Given the description of an element on the screen output the (x, y) to click on. 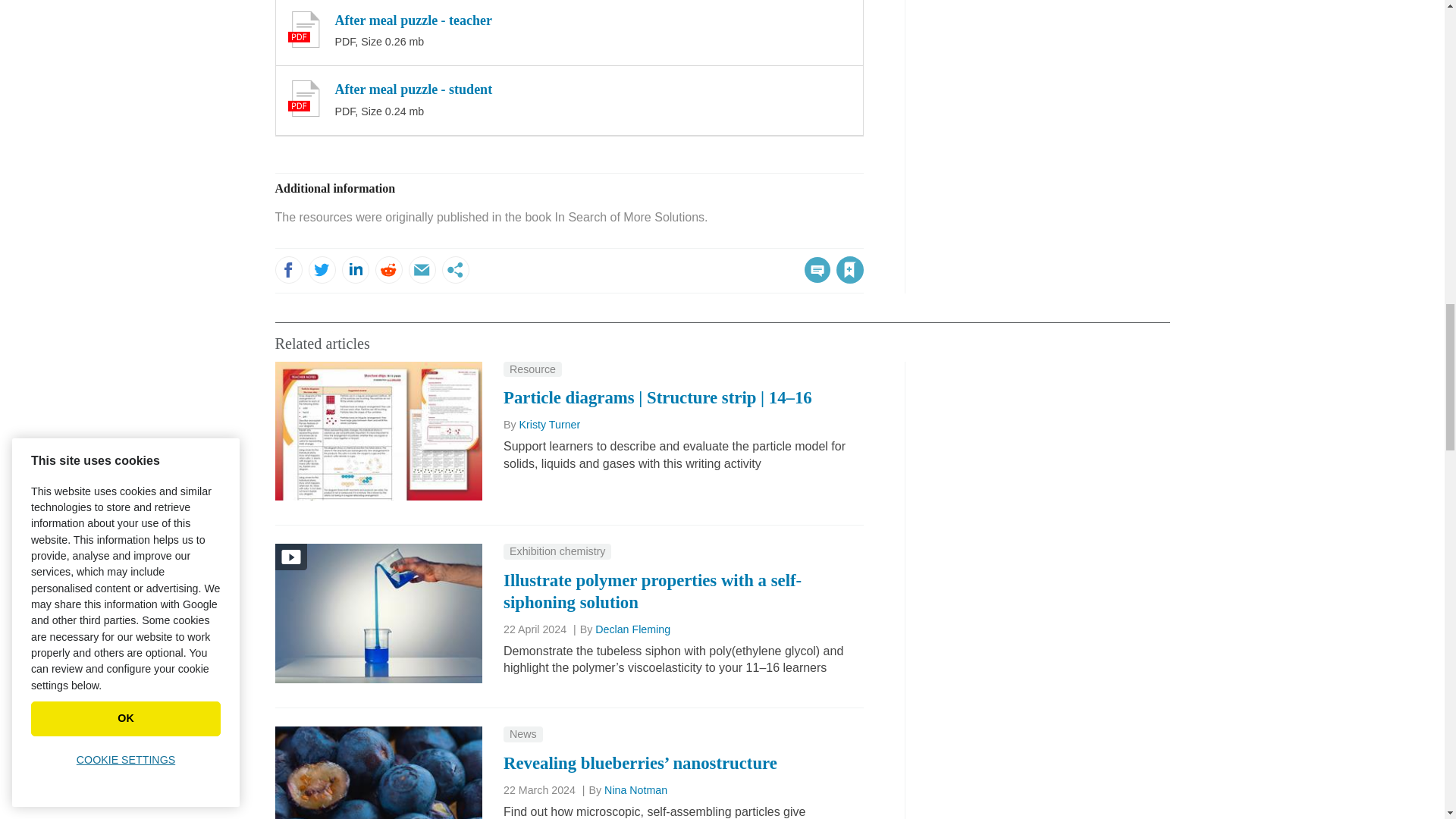
Share this on LinkedIn (354, 269)
Share this by email (421, 269)
Share this on Reddit (387, 269)
More share options (454, 269)
No comments (812, 278)
Share this on Facebook (288, 269)
Share this on Twitter (320, 269)
